Given the description of an element on the screen output the (x, y) to click on. 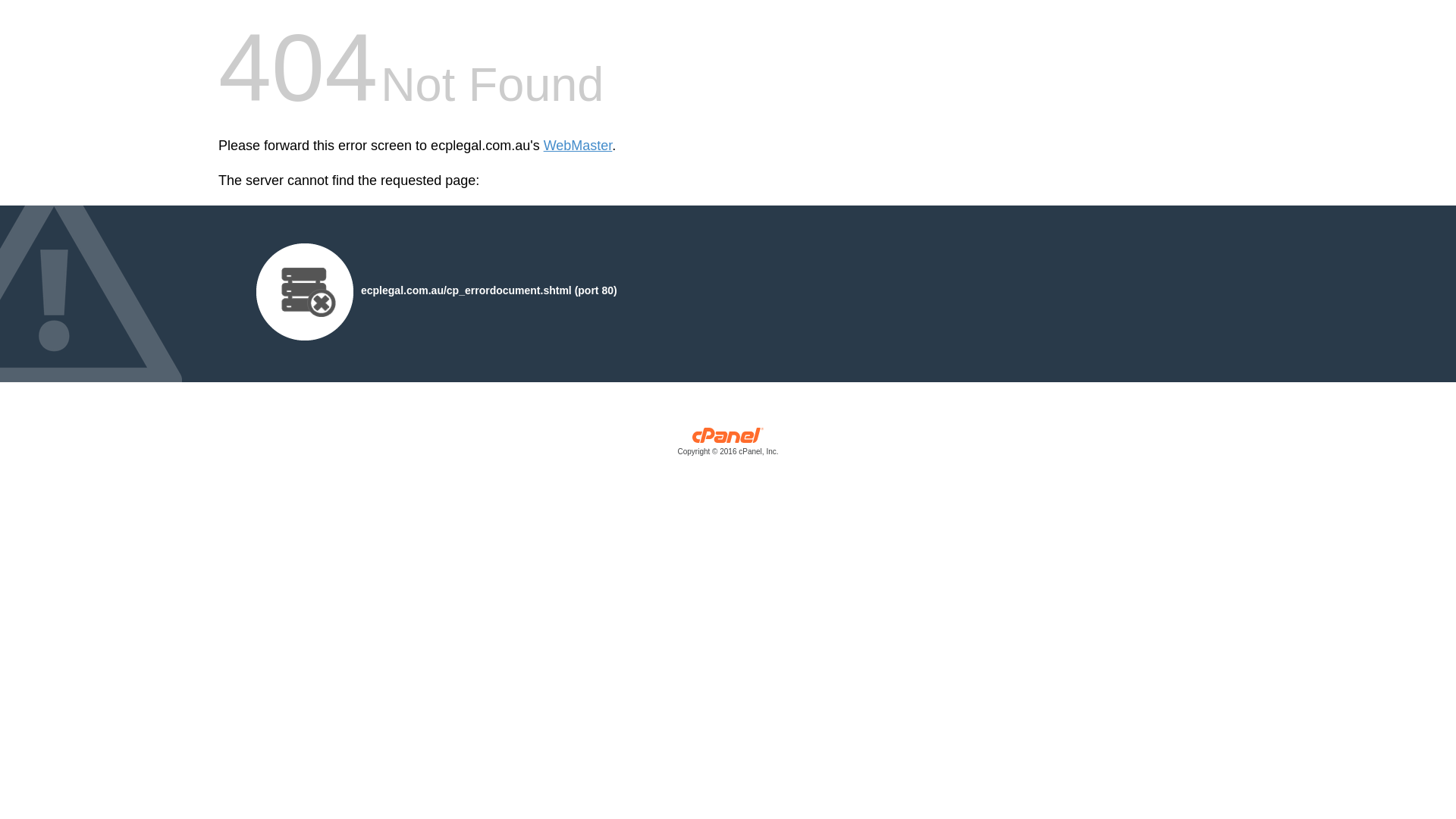
WebMaster Element type: text (577, 145)
